Given the description of an element on the screen output the (x, y) to click on. 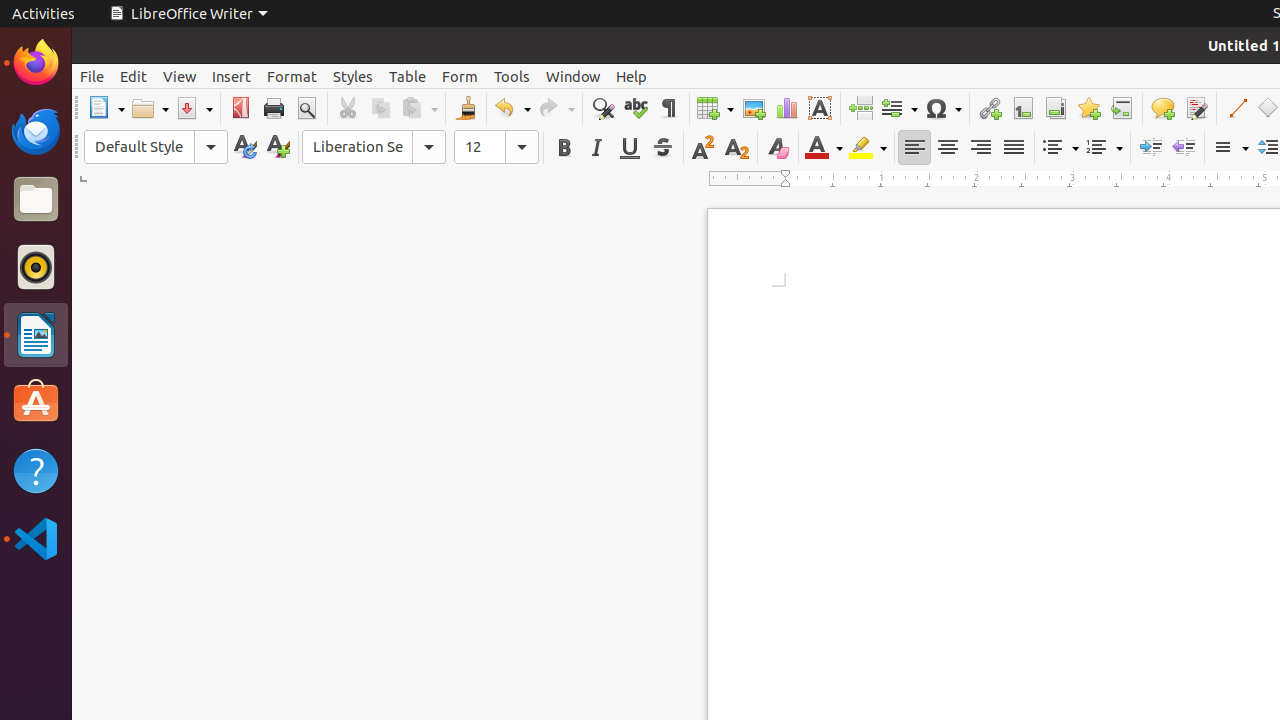
Paragraph Style Element type: combo-box (156, 147)
Left Element type: toggle-button (914, 147)
New Element type: push-button (277, 147)
Bullets Element type: push-button (1060, 147)
View Element type: menu (179, 76)
